Given the description of an element on the screen output the (x, y) to click on. 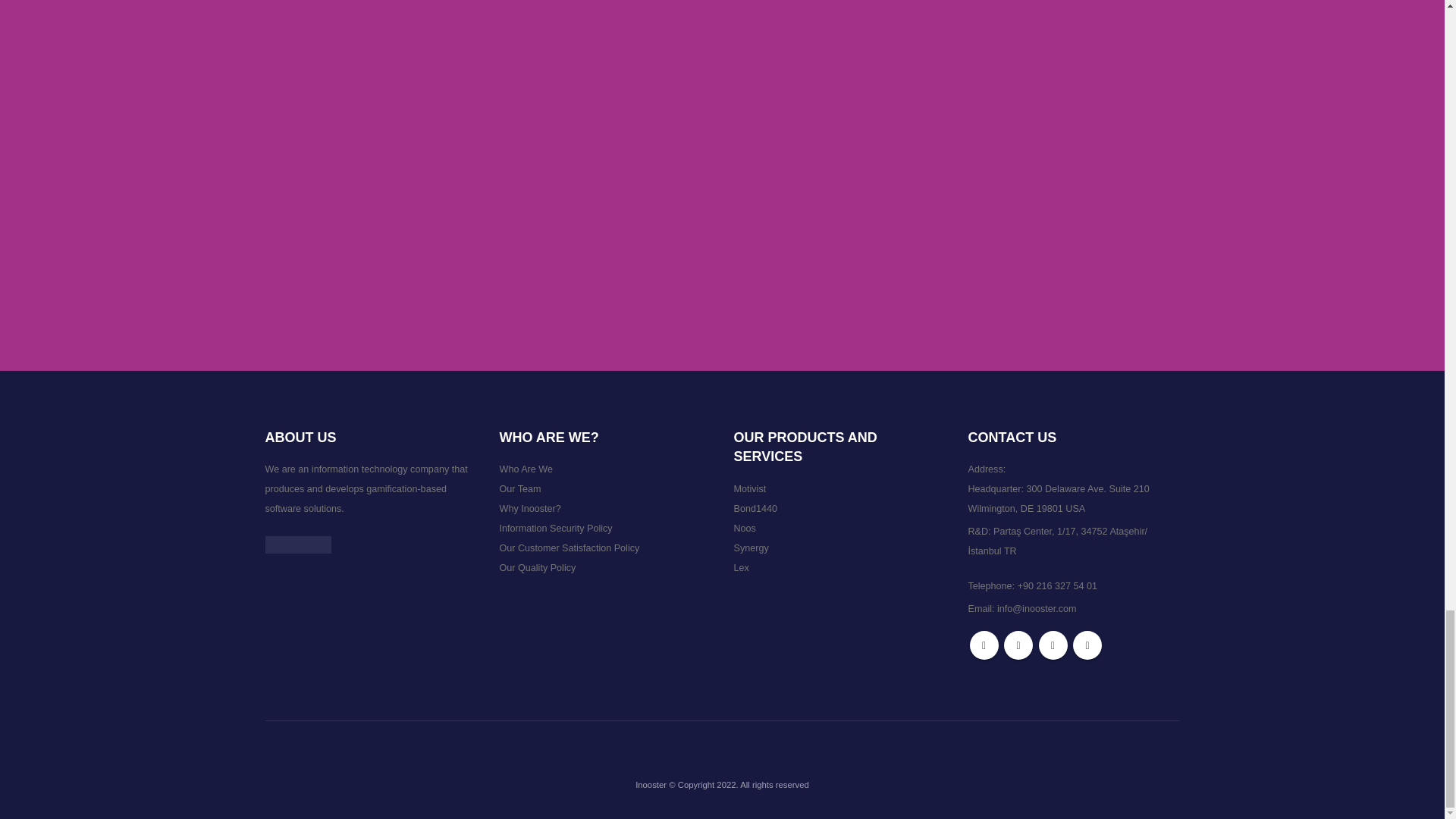
Twitter (1018, 645)
Instagram (1053, 645)
Linkedin (1087, 645)
Facebook (983, 645)
